Given the description of an element on the screen output the (x, y) to click on. 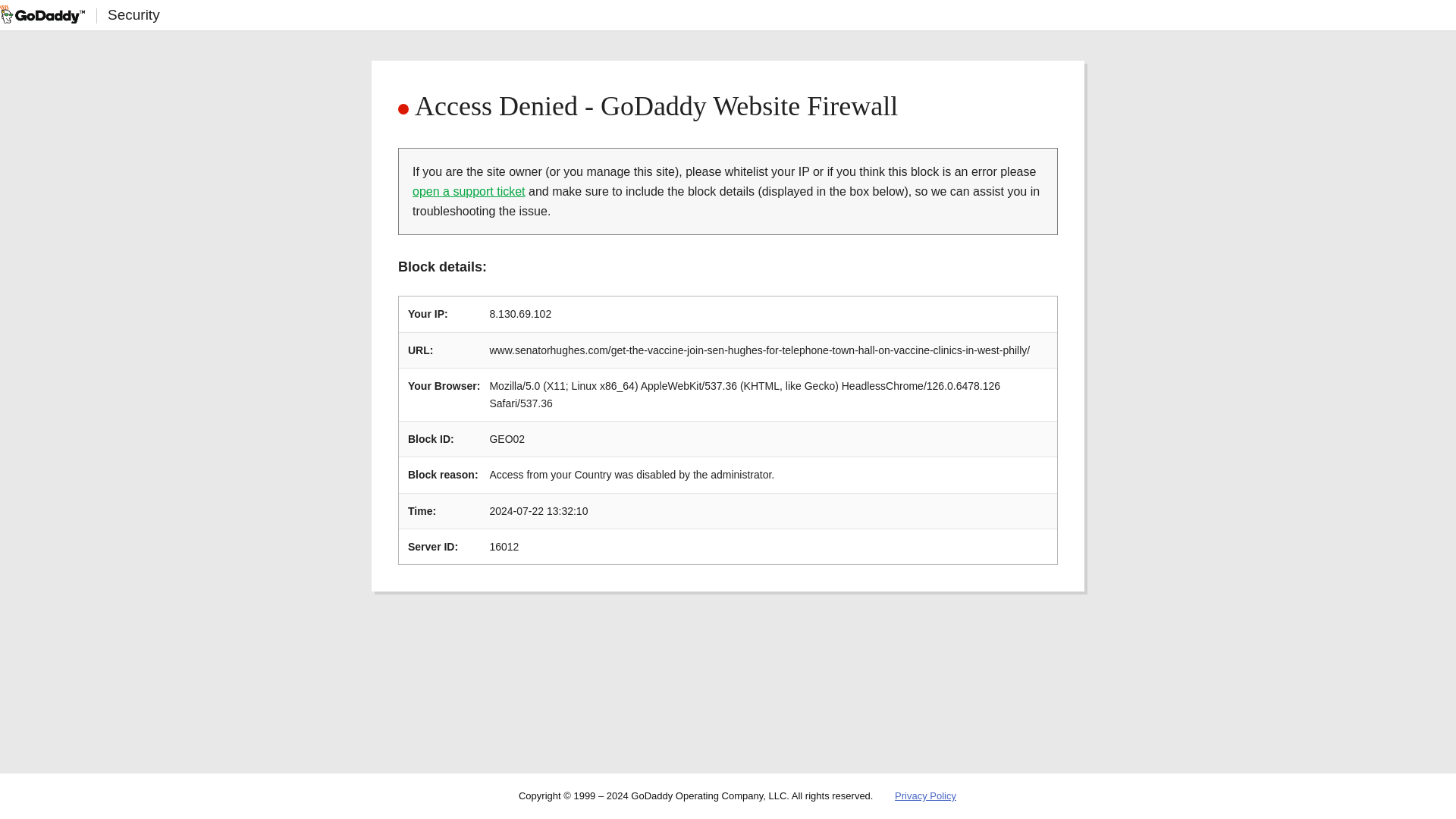
open a support ticket (468, 191)
Privacy Policy (925, 795)
